Given the description of an element on the screen output the (x, y) to click on. 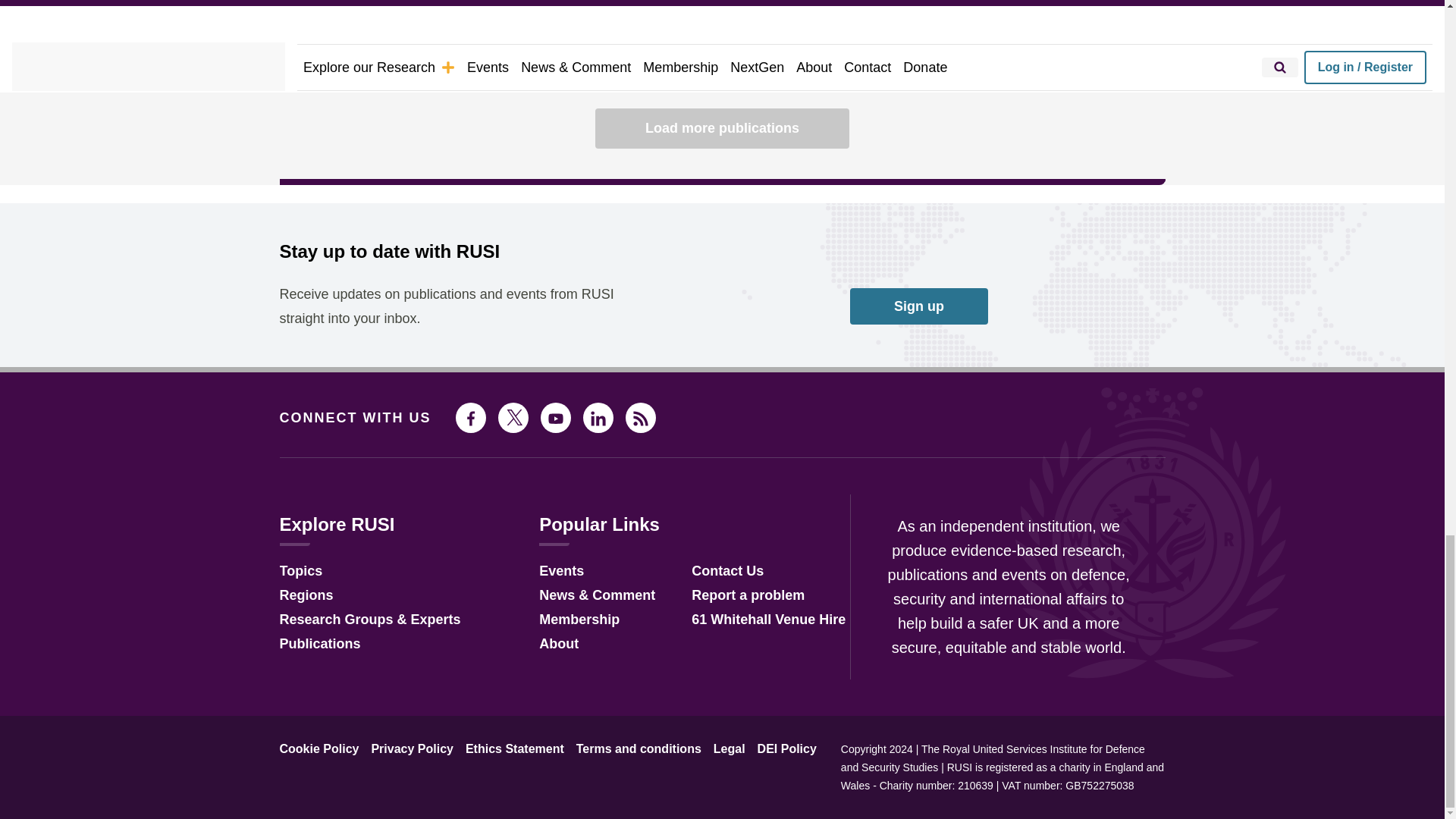
Sign up (919, 306)
Topics (300, 571)
View all publications (1104, 61)
Regions (306, 596)
Load more publications (721, 128)
